Given the description of an element on the screen output the (x, y) to click on. 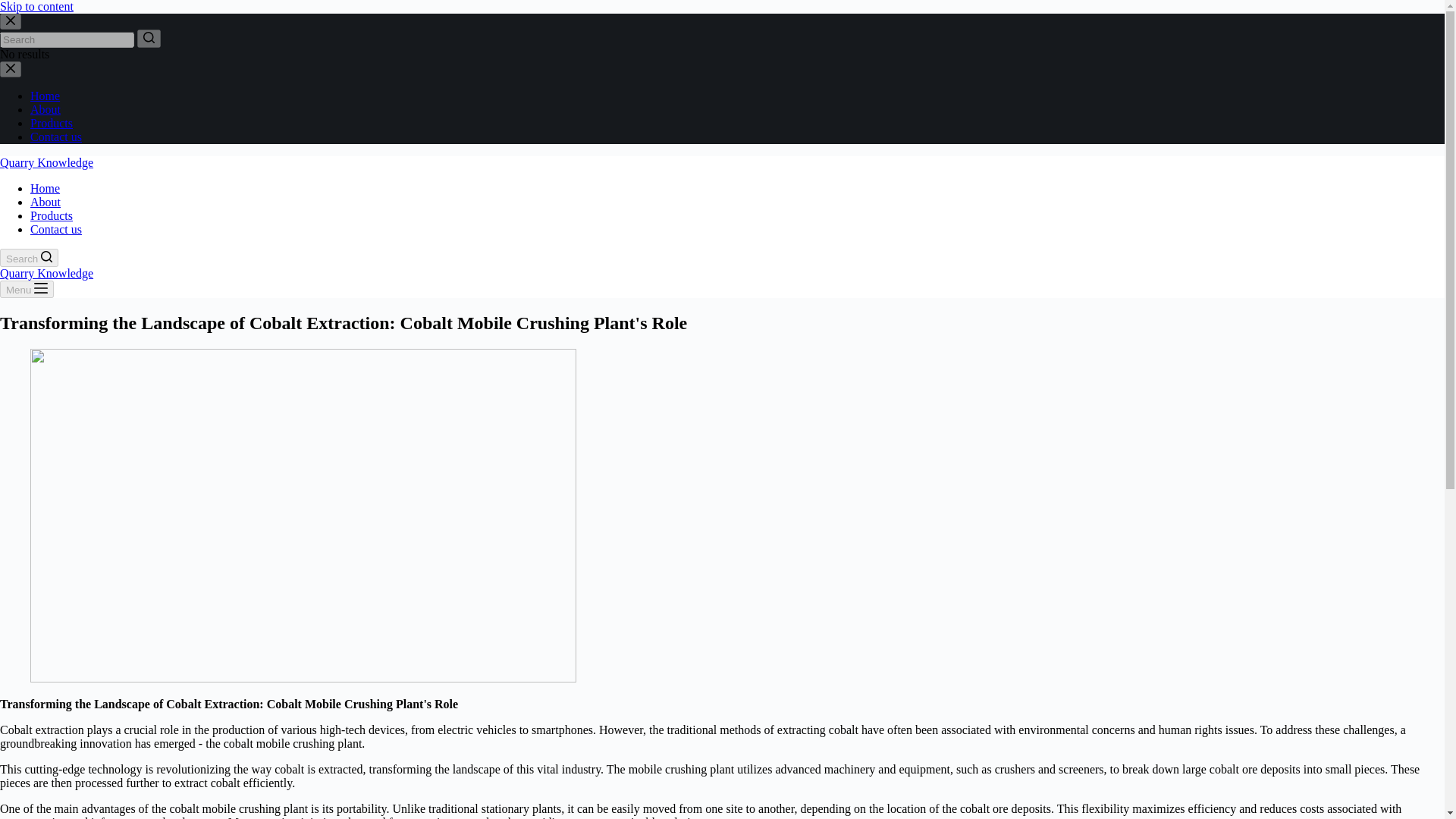
Contact us (55, 136)
About (45, 109)
Quarry Knowledge (46, 162)
Home (44, 95)
Quarry Knowledge (46, 273)
Search (29, 257)
About (45, 201)
Contact us (55, 228)
Products (51, 123)
Home (44, 187)
Products (51, 215)
Skip to content (37, 6)
Search for... (66, 39)
Menu (26, 289)
